Given the description of an element on the screen output the (x, y) to click on. 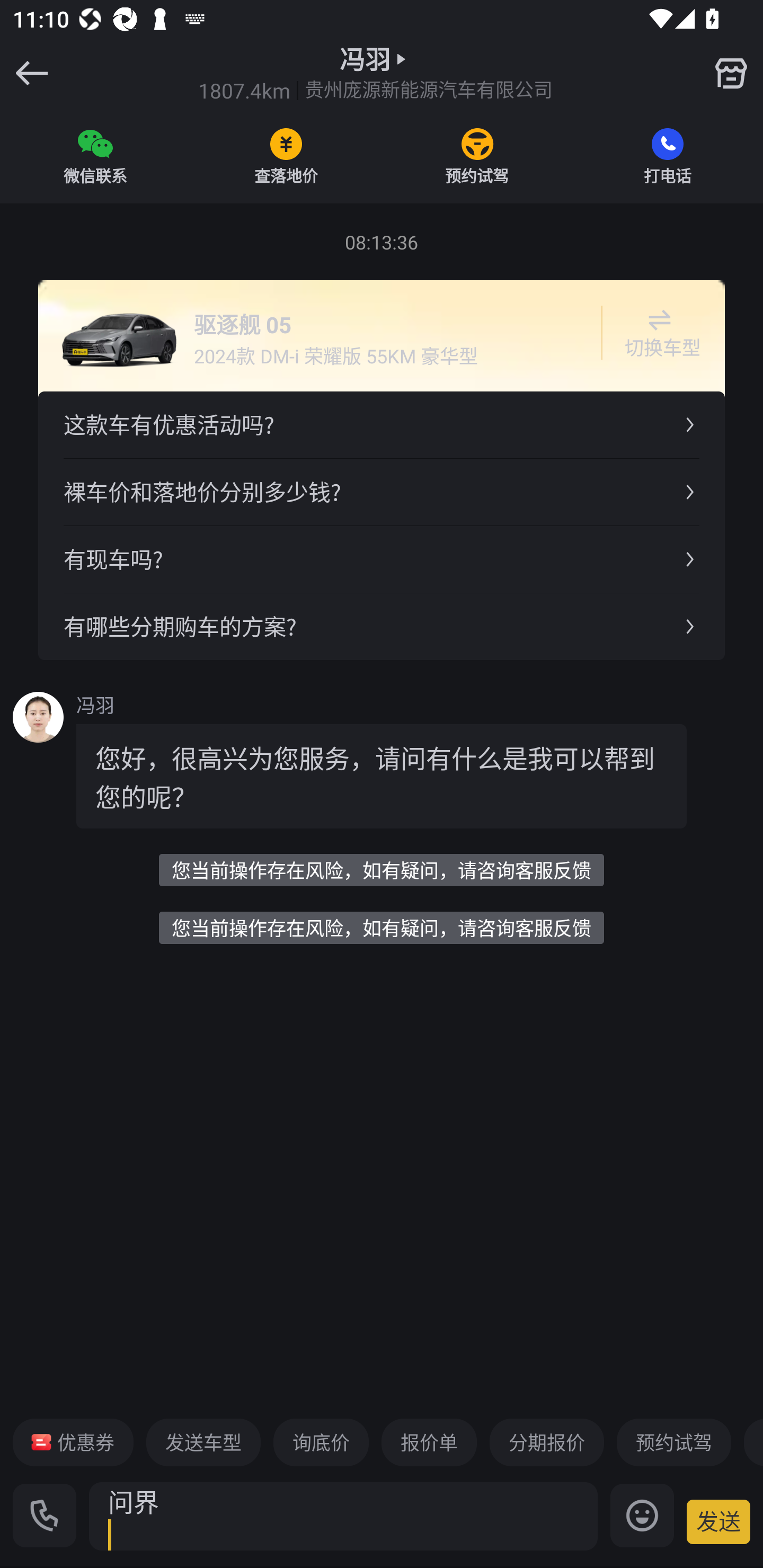
冯羽 1807.4km 贵州庞源新能源汽车有限公司 (374, 73)
 (730, 73)
微信联系 (95, 155)
查落地价 (285, 155)
预约试驾 (476, 155)
打电话 (667, 155)
切换车型 (659, 332)
这款车有优惠活动吗? (381, 424)
裸车价和落地价分别多少钱? (381, 492)
有现车吗? (381, 558)
有哪些分期购车的方案? (381, 626)
您好，很高兴为您服务，请问有什么是我可以帮到您的呢？ (381, 775)
优惠券 (72, 1442)
发送车型 (203, 1442)
询底价 (320, 1442)
报价单 (428, 1442)
分期报价 (546, 1442)
预约试驾 (673, 1442)
问界
 (343, 1515)
发送 (718, 1521)
